Given the description of an element on the screen output the (x, y) to click on. 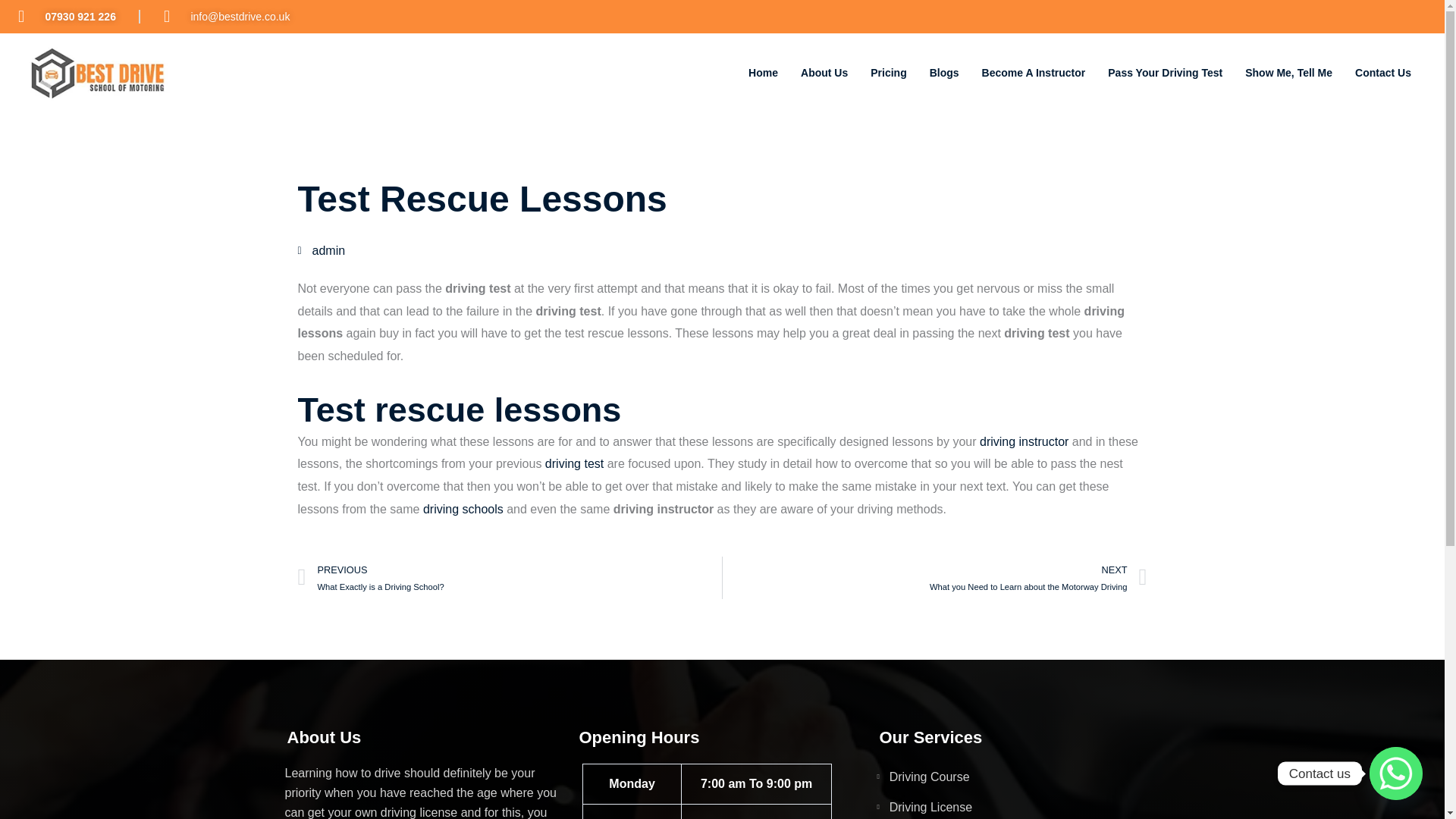
driving test (574, 463)
Contact Us (1382, 72)
Pricing (888, 72)
driving instructor (1023, 440)
Blogs (509, 577)
Driving Course (944, 72)
Home (1021, 777)
About Us (762, 72)
Driving License (824, 72)
Become A Instructor (1021, 807)
Show Me, Tell Me (1034, 72)
admin (1288, 72)
Contact us (934, 577)
